Given the description of an element on the screen output the (x, y) to click on. 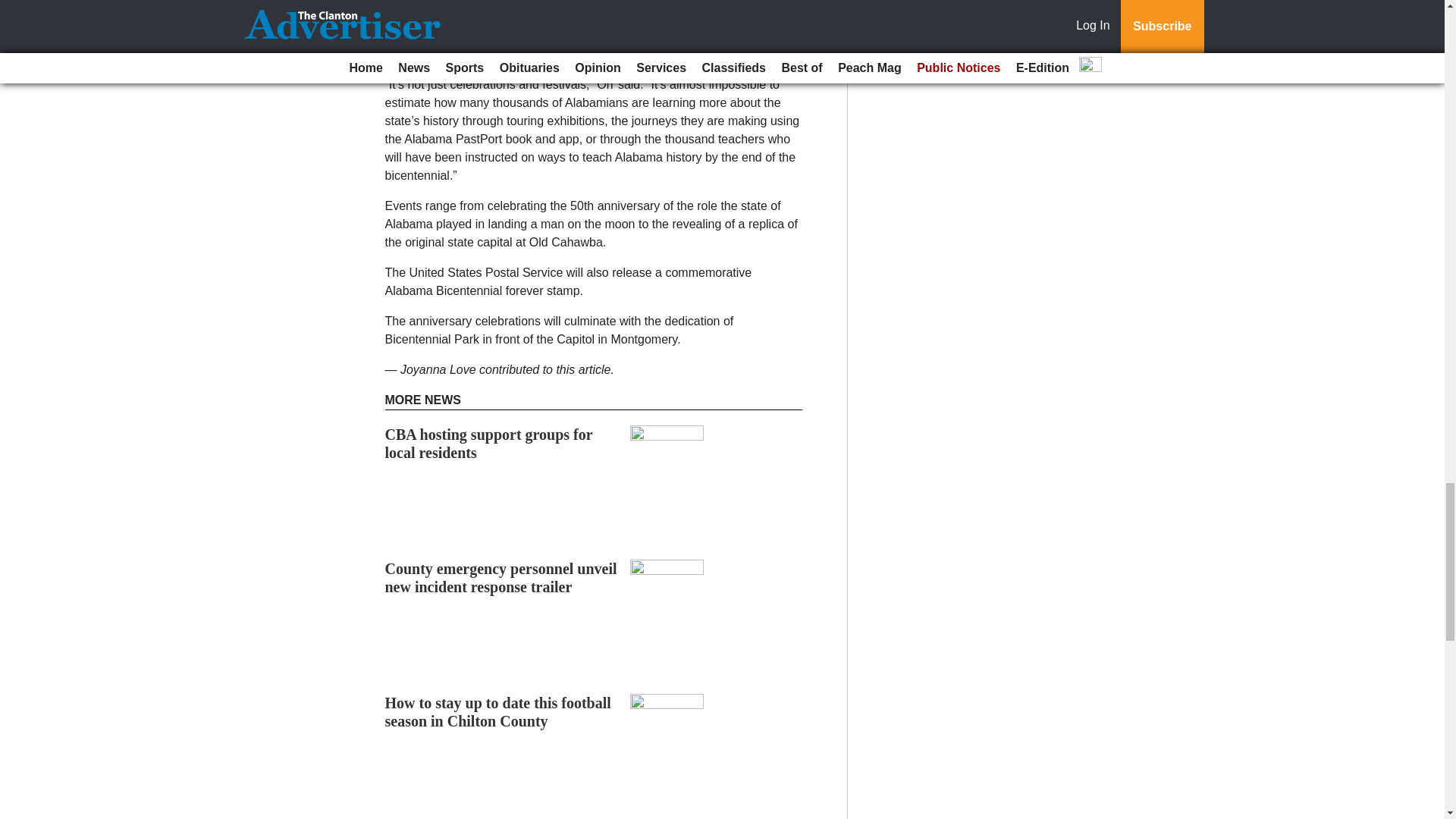
CBA hosting support groups for local residents (488, 443)
CBA hosting support groups for local residents (488, 443)
